Given the description of an element on the screen output the (x, y) to click on. 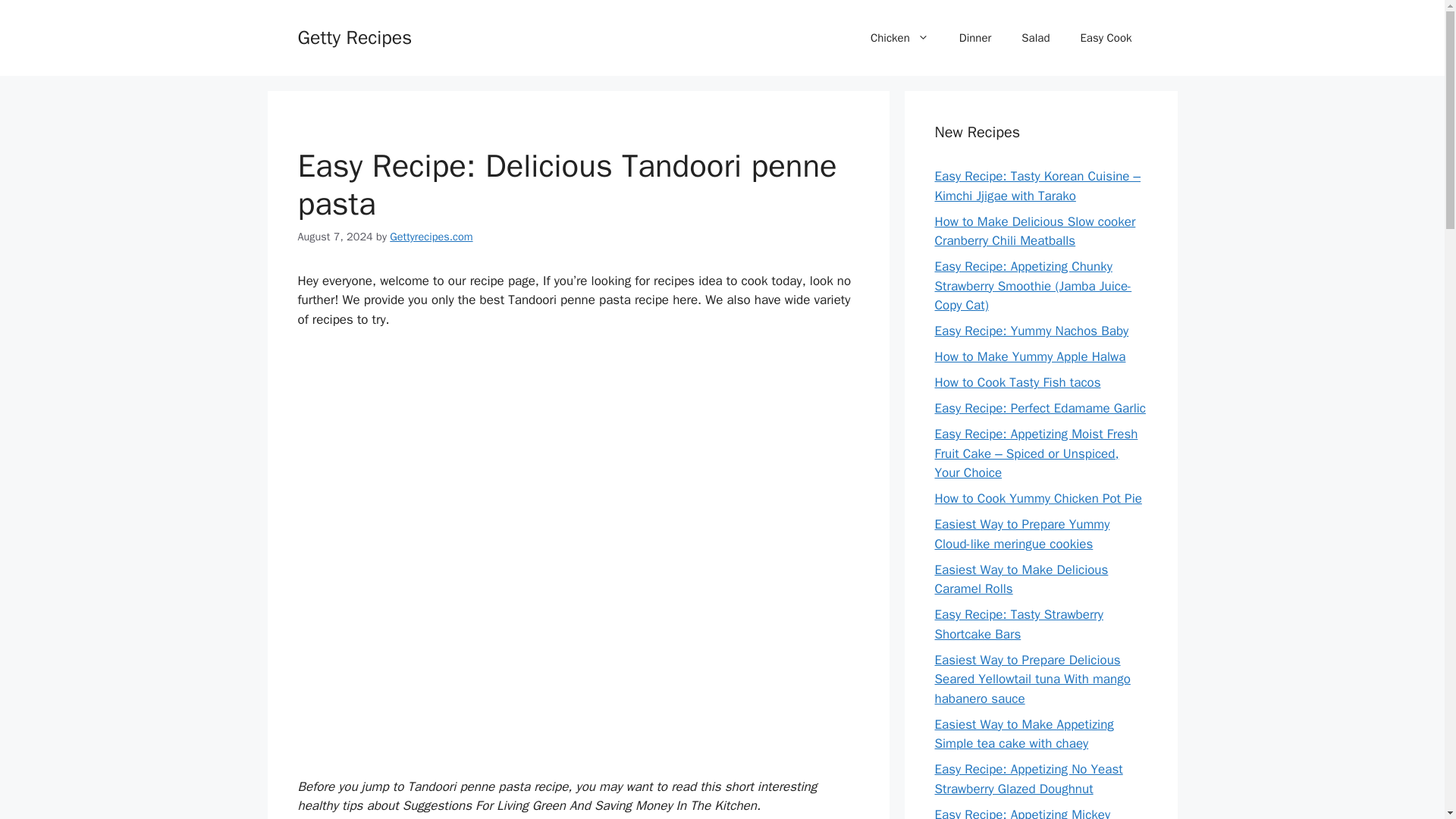
Easy Cook (1105, 37)
How to Make Yummy Apple Halwa (1029, 356)
Salad (1035, 37)
Chicken (899, 37)
Dinner (975, 37)
How to Make Delicious Slow cooker Cranberry Chili Meatballs (1034, 231)
Gettyrecipes.com (430, 236)
Easy Recipe: Yummy Nachos Baby (1031, 330)
Getty Recipes (354, 37)
View all posts by Gettyrecipes.com (430, 236)
